Given the description of an element on the screen output the (x, y) to click on. 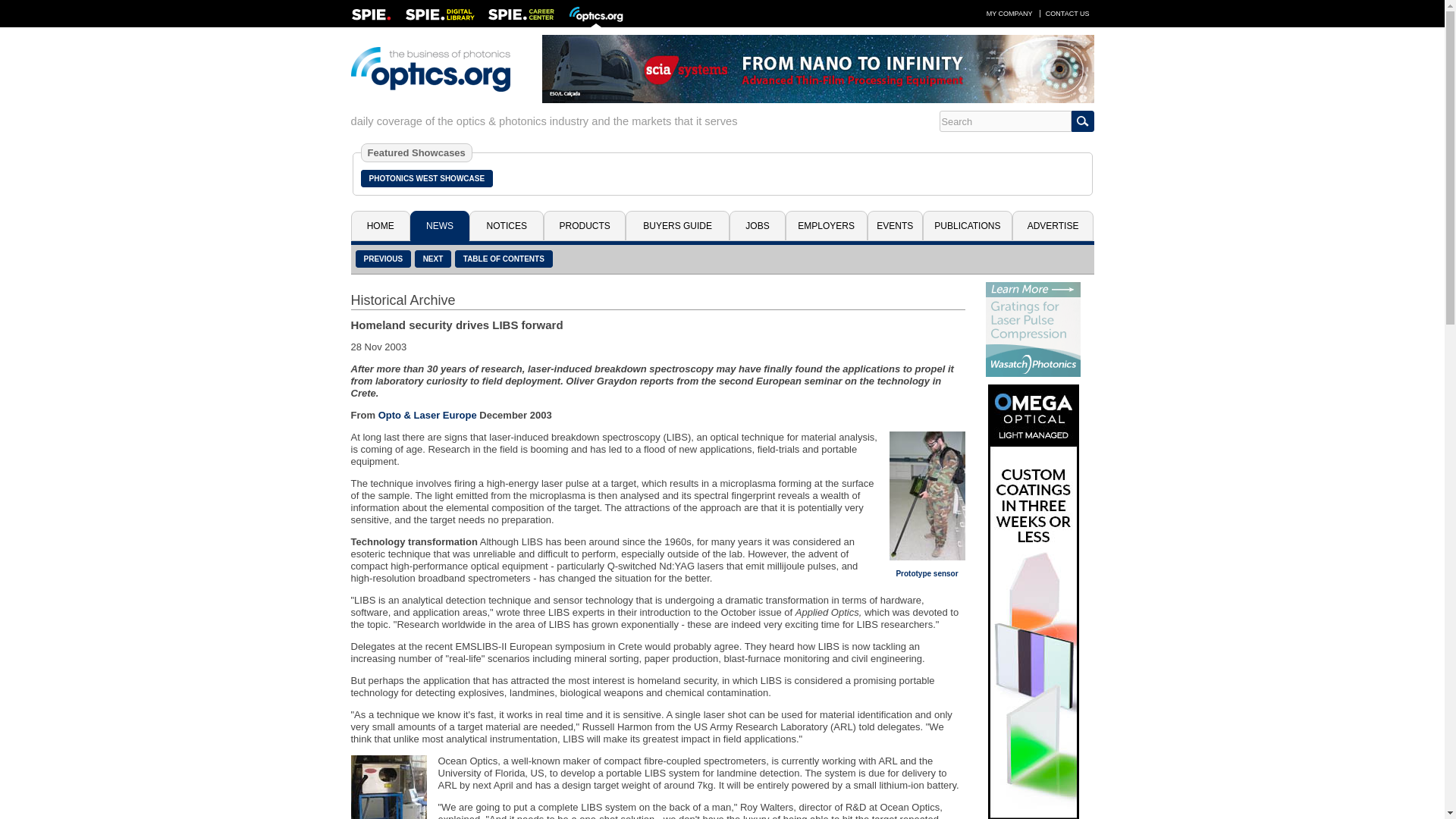
Search (1004, 120)
MY COMPANY (1008, 13)
BUYERS GUIDE (677, 225)
Portable LIBS (388, 787)
NEWS (439, 225)
PRODUCTS (584, 225)
JOBS (757, 225)
PHOTONICS WEST SHOWCASE (427, 178)
HOME (379, 225)
Prototype sensor (926, 573)
CONTACT US (1067, 13)
NOTICES (505, 225)
